Given the description of an element on the screen output the (x, y) to click on. 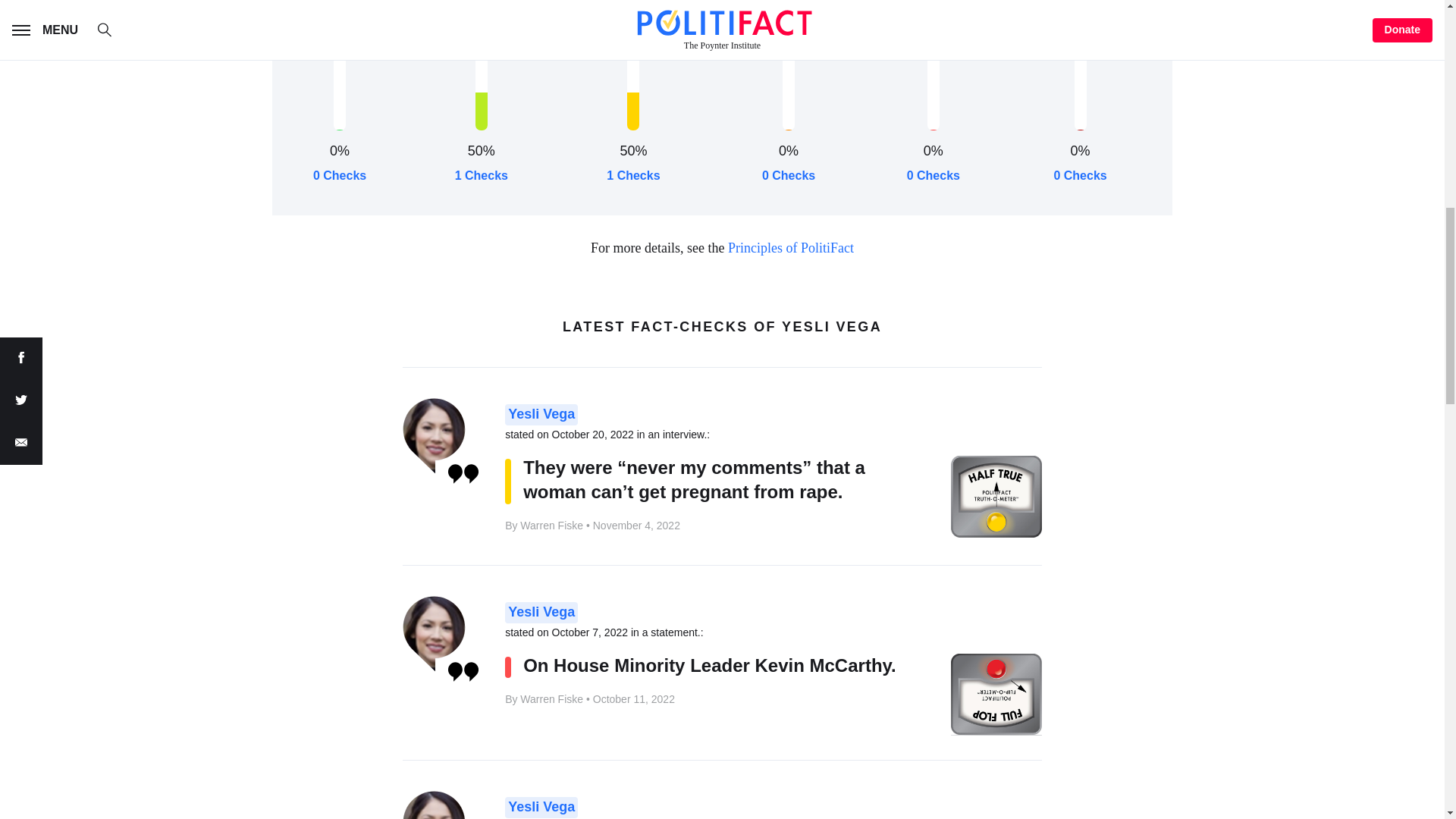
Yesli Vega (541, 612)
Yesli Vega (541, 807)
Yesli Vega (541, 414)
